Given the description of an element on the screen output the (x, y) to click on. 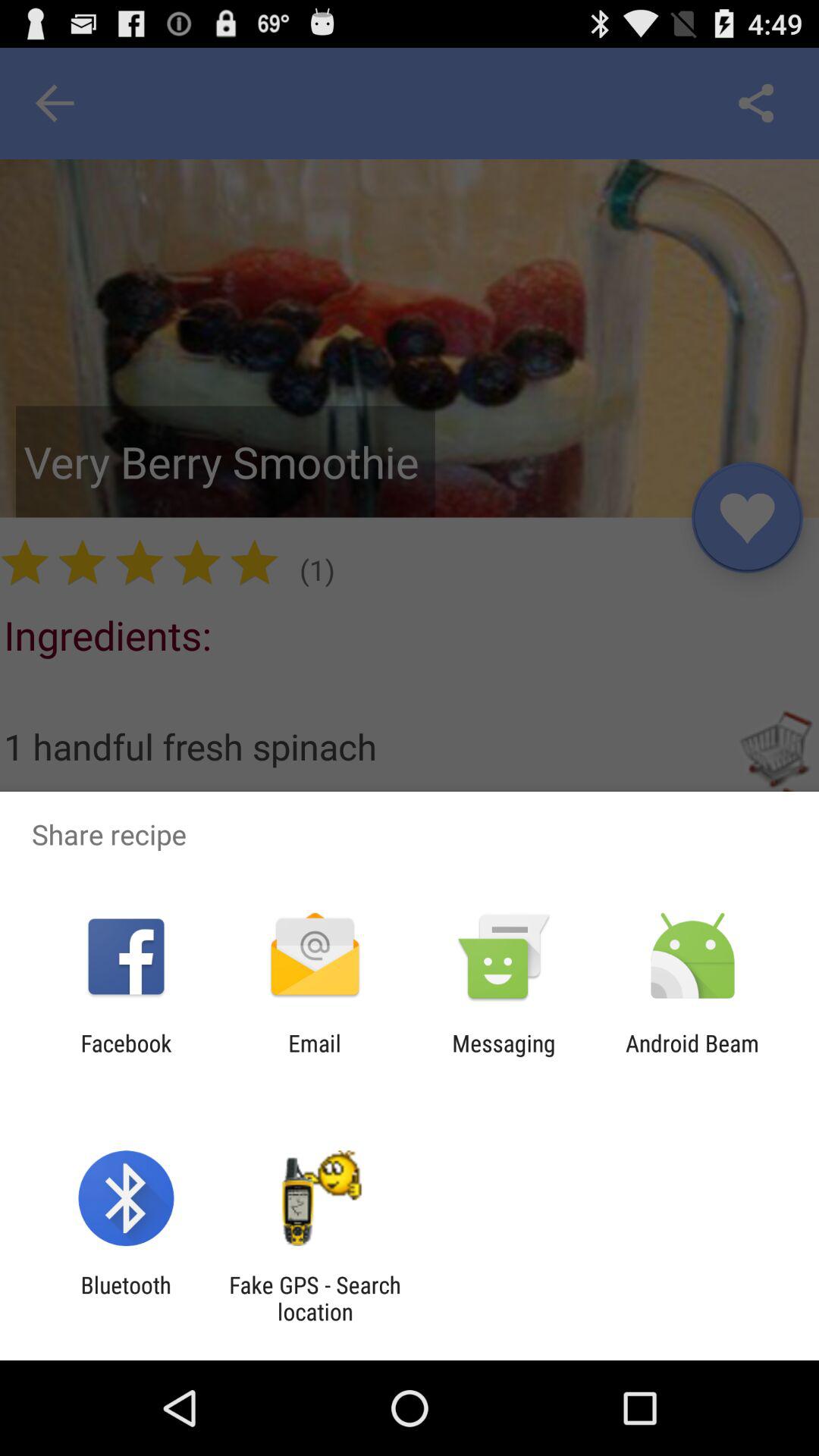
jump until messaging item (503, 1056)
